Given the description of an element on the screen output the (x, y) to click on. 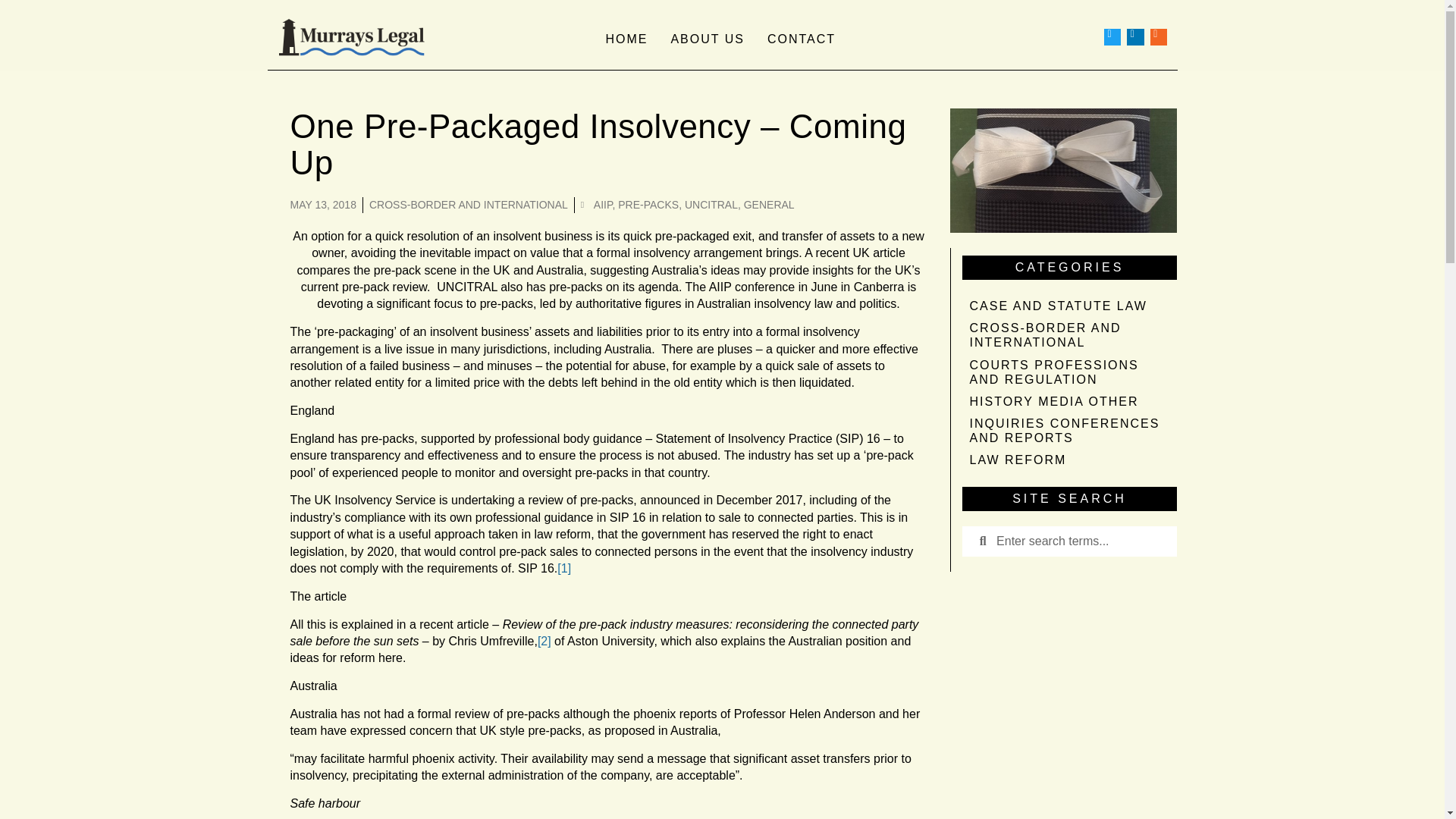
CROSS-BORDER AND INTERNATIONAL (1068, 334)
ABOUT US (707, 38)
GENERAL (769, 204)
INQUIRIES CONFERENCES AND REPORTS (1068, 430)
PRE-PACKS (647, 204)
COURTS PROFESSIONS AND REGULATION (1068, 371)
MAY 13, 2018 (322, 204)
HISTORY MEDIA OTHER (1068, 401)
LAW REFORM (1068, 459)
UNCITRAL (711, 204)
CROSS-BORDER AND INTERNATIONAL (468, 204)
HOME (625, 38)
CONTACT (801, 38)
AIIP (603, 204)
CASE AND STATUTE LAW (1068, 305)
